Given the description of an element on the screen output the (x, y) to click on. 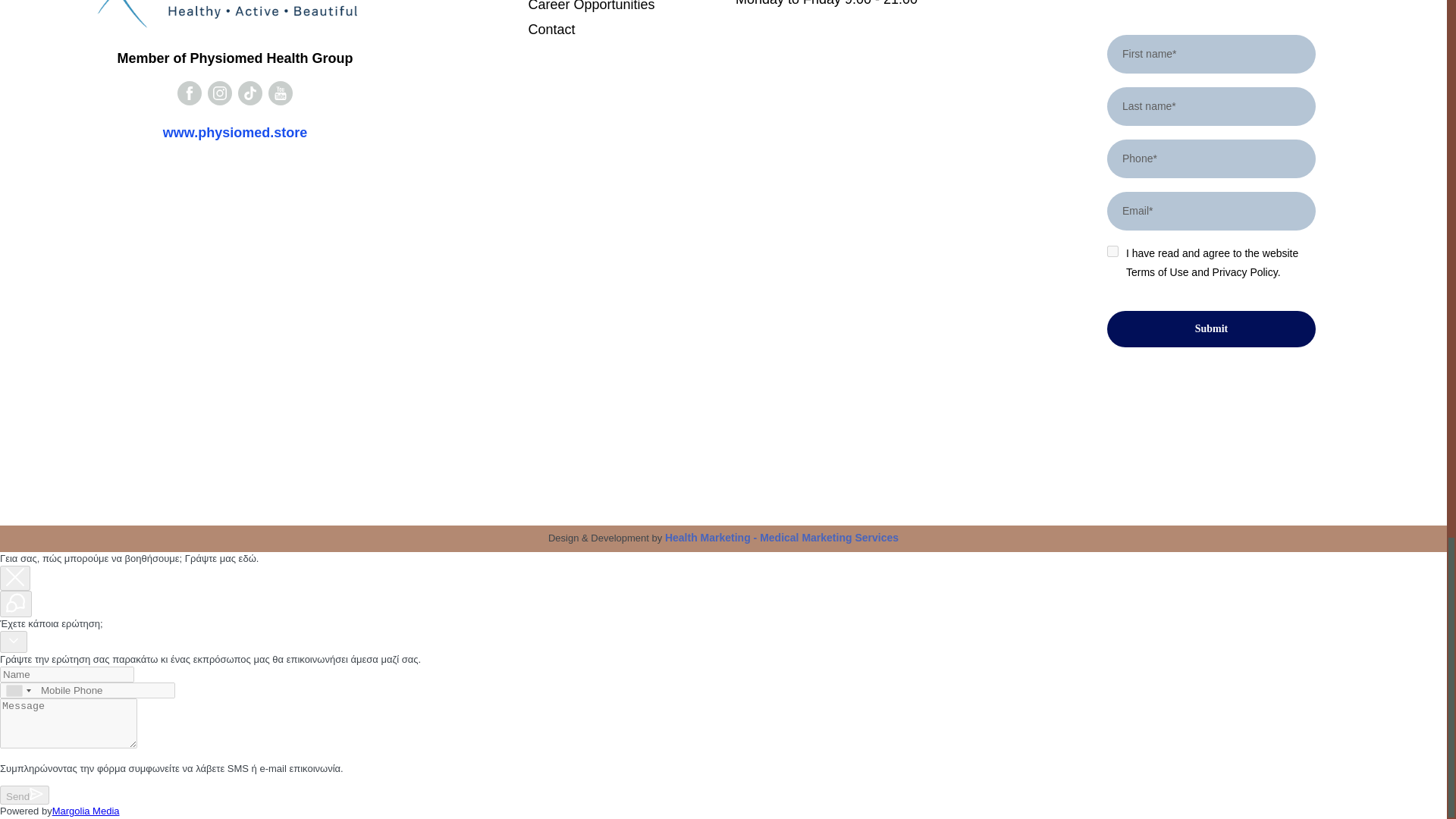
Health Marketing - Medical Marketing Services (781, 537)
Career Opportunities (619, 6)
www.physiomed.store (234, 132)
Contact (619, 29)
Member of Physiomed Health Group (234, 58)
